Given the description of an element on the screen output the (x, y) to click on. 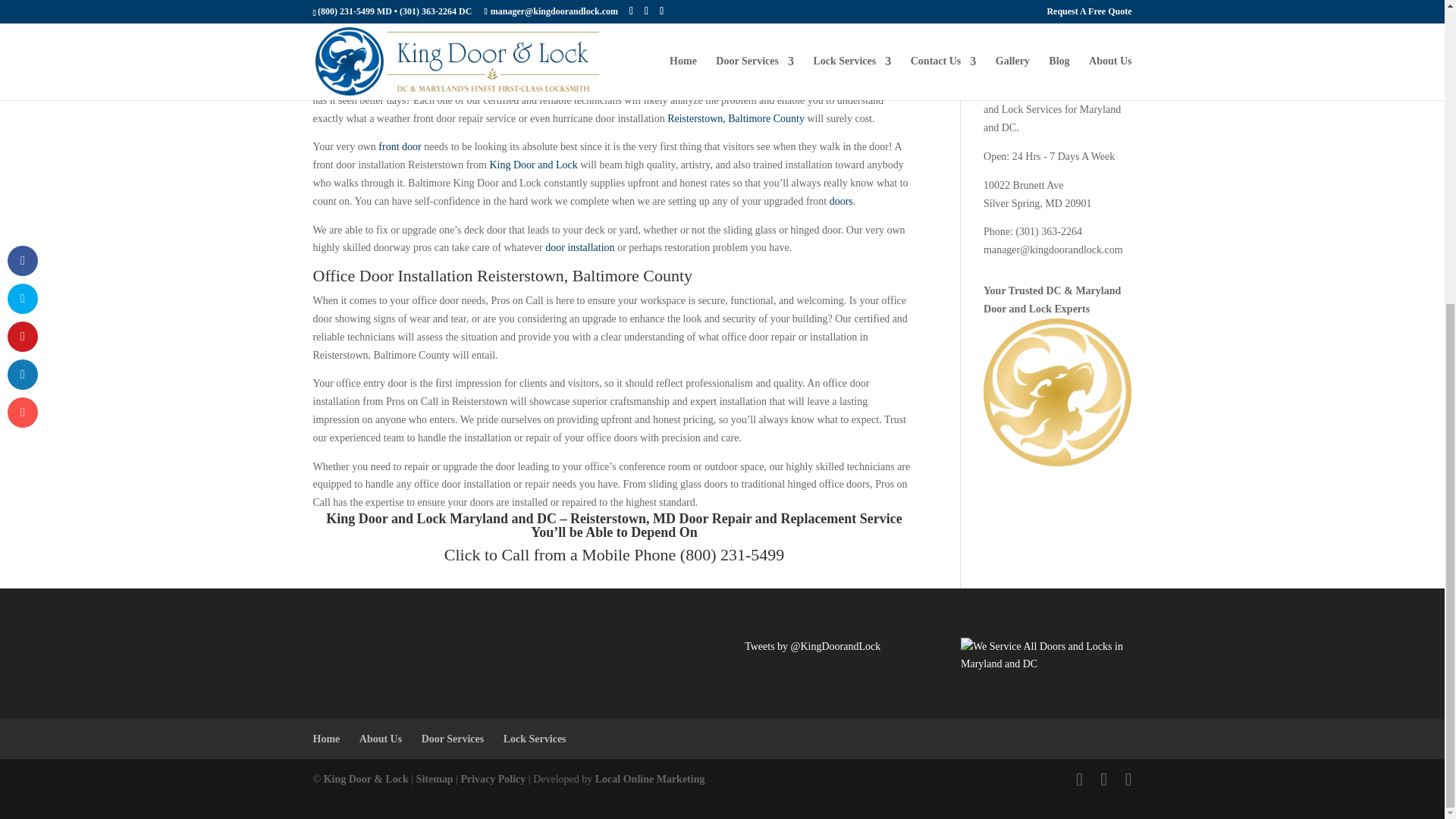
Reisterstown, Baltimore County (735, 118)
Door Installation and Repair Service in Kensington, Maryland (751, 518)
Search (1109, 20)
